Given the description of an element on the screen output the (x, y) to click on. 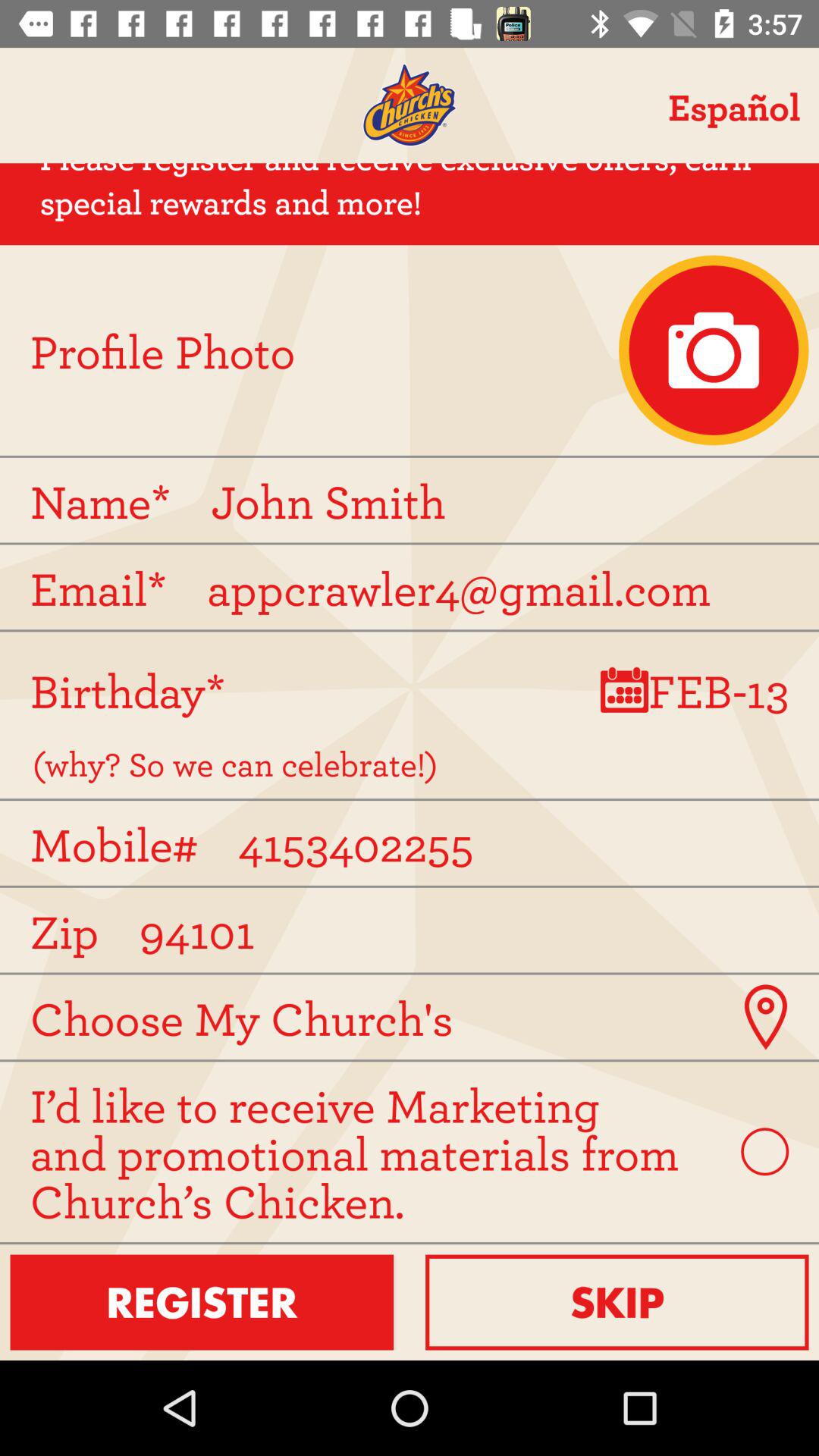
add profile photo (713, 350)
